Given the description of an element on the screen output the (x, y) to click on. 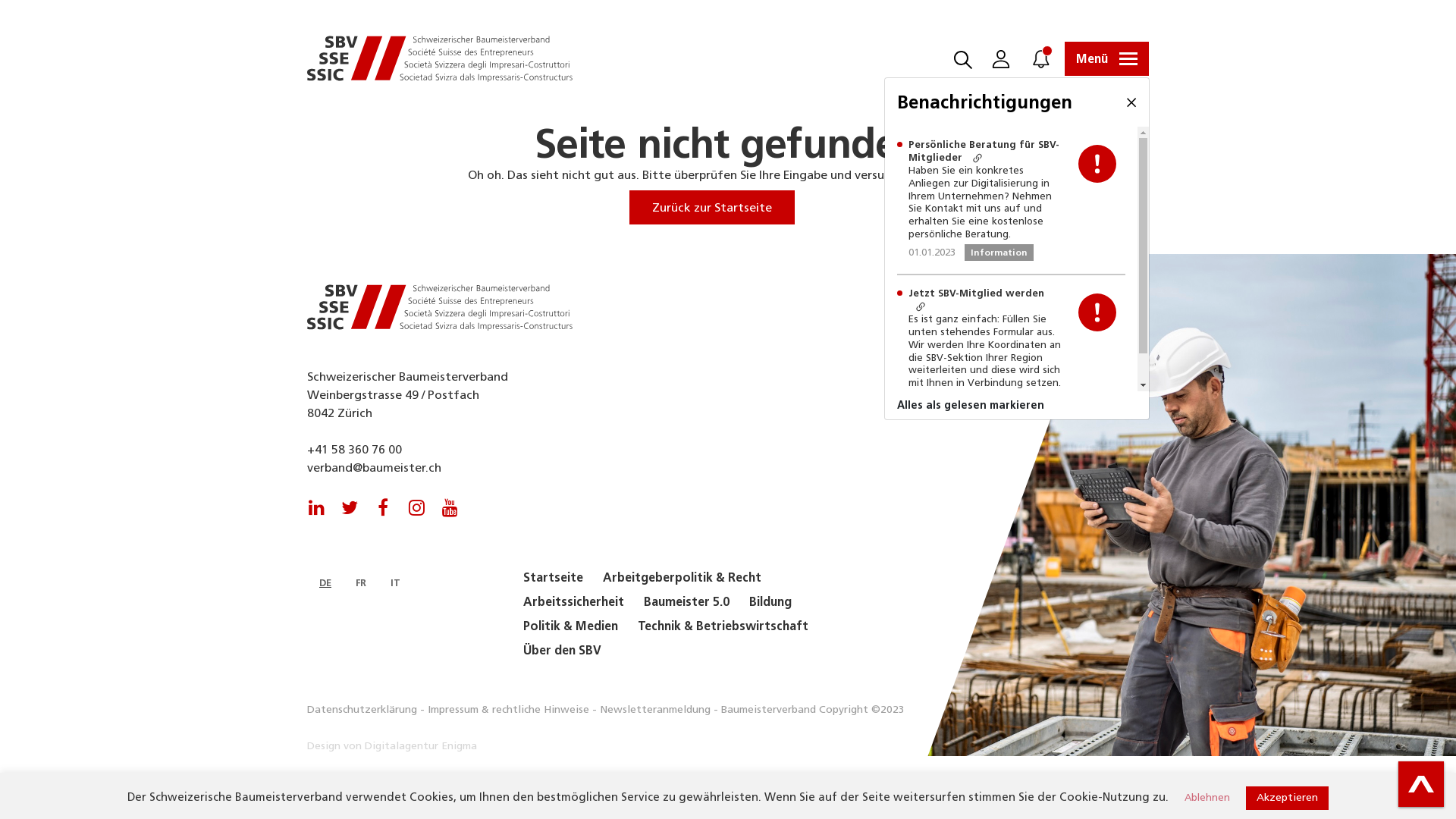
Twitter Element type: hover (349, 501)
Schweizerischer Baumeisterverband Element type: hover (439, 307)
Bildung Element type: text (770, 601)
Startseite Element type: text (553, 577)
IT Element type: text (395, 582)
Arbeitssicherheit Element type: text (573, 601)
Newsletteranmeldung Element type: text (654, 708)
YouTube Element type: hover (449, 501)
Impressum & rechtliche Hinweise Element type: text (508, 708)
Politik & Medien Element type: text (570, 625)
Ablehnen Element type: text (1207, 797)
Design von Digitalagentur Enigma Element type: text (391, 745)
Baumeister 5.0 Element type: text (686, 601)
Facebook Element type: hover (382, 501)
Akzeptieren Element type: text (1286, 797)
FR Element type: text (360, 582)
Instagram Element type: hover (416, 501)
LinkedIn Element type: hover (316, 501)
Schweizerischer Baumeisterverband Element type: hover (439, 58)
Arbeitgeberpolitik & Recht Element type: text (681, 577)
DE Element type: text (325, 582)
Alles als gelesen markieren Element type: text (1016, 405)
Technik & Betriebswirtschaft Element type: text (722, 625)
